Given the description of an element on the screen output the (x, y) to click on. 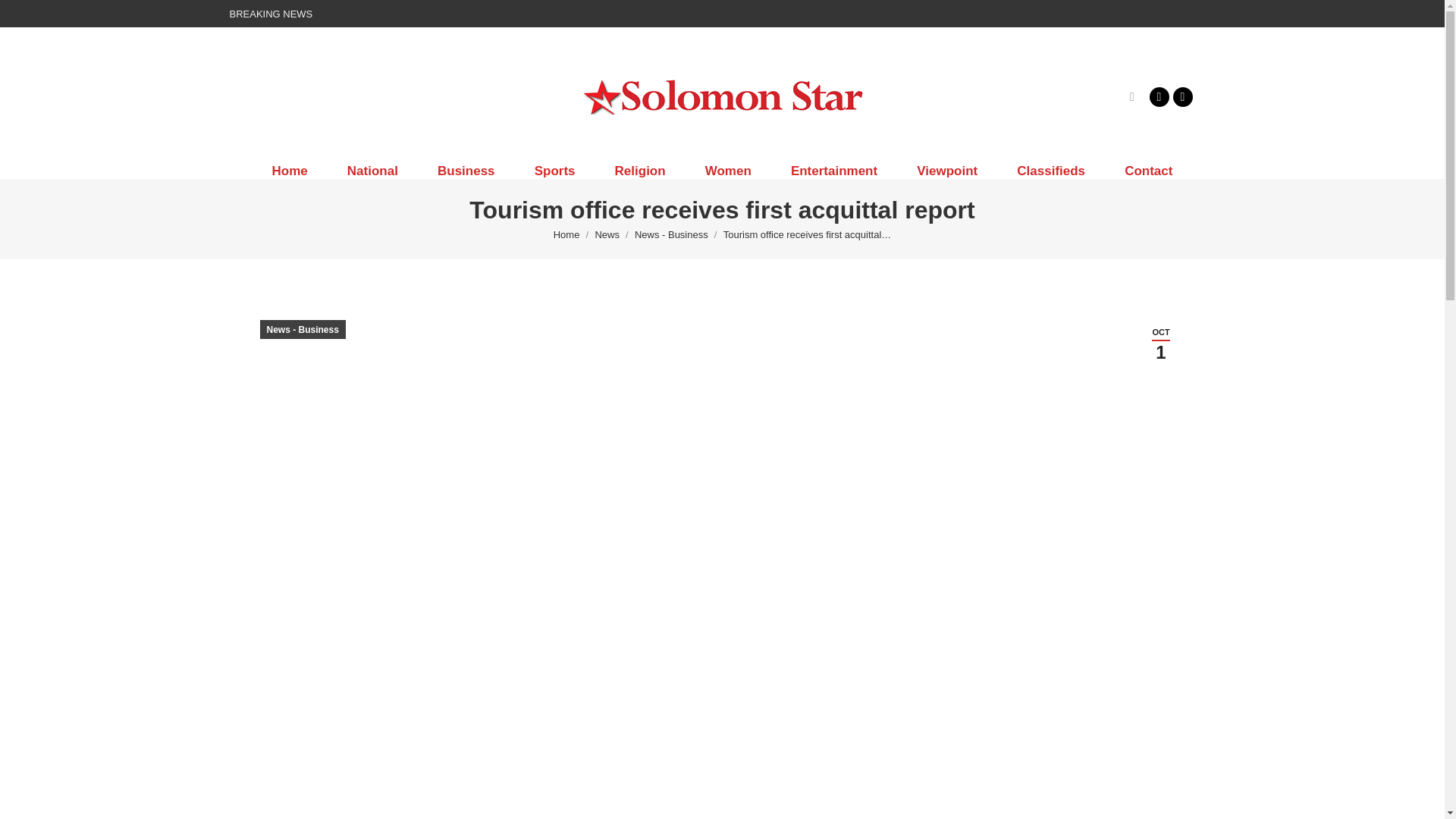
News - Business (670, 234)
Religion (640, 170)
Facebook page opens in new window (1159, 96)
News (607, 234)
Go! (24, 17)
National (372, 170)
2:45 am (1161, 343)
Sports (555, 170)
Home (566, 234)
Home (566, 234)
